Given the description of an element on the screen output the (x, y) to click on. 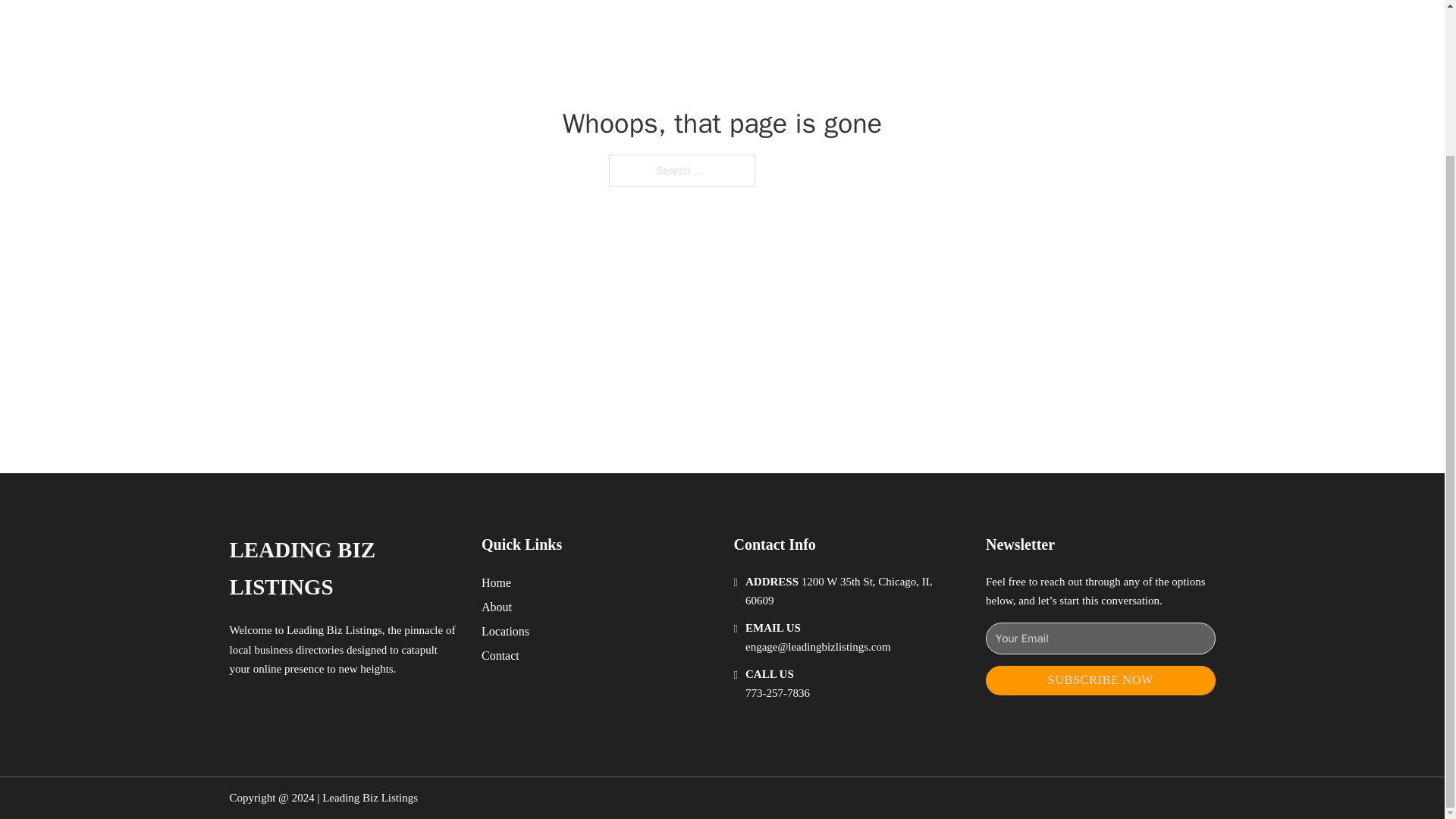
Contact (500, 655)
About (496, 607)
773-257-7836 (777, 693)
SUBSCRIBE NOW (1100, 680)
Locations (505, 630)
Home (496, 582)
LEADING BIZ LISTINGS (343, 568)
